Given the description of an element on the screen output the (x, y) to click on. 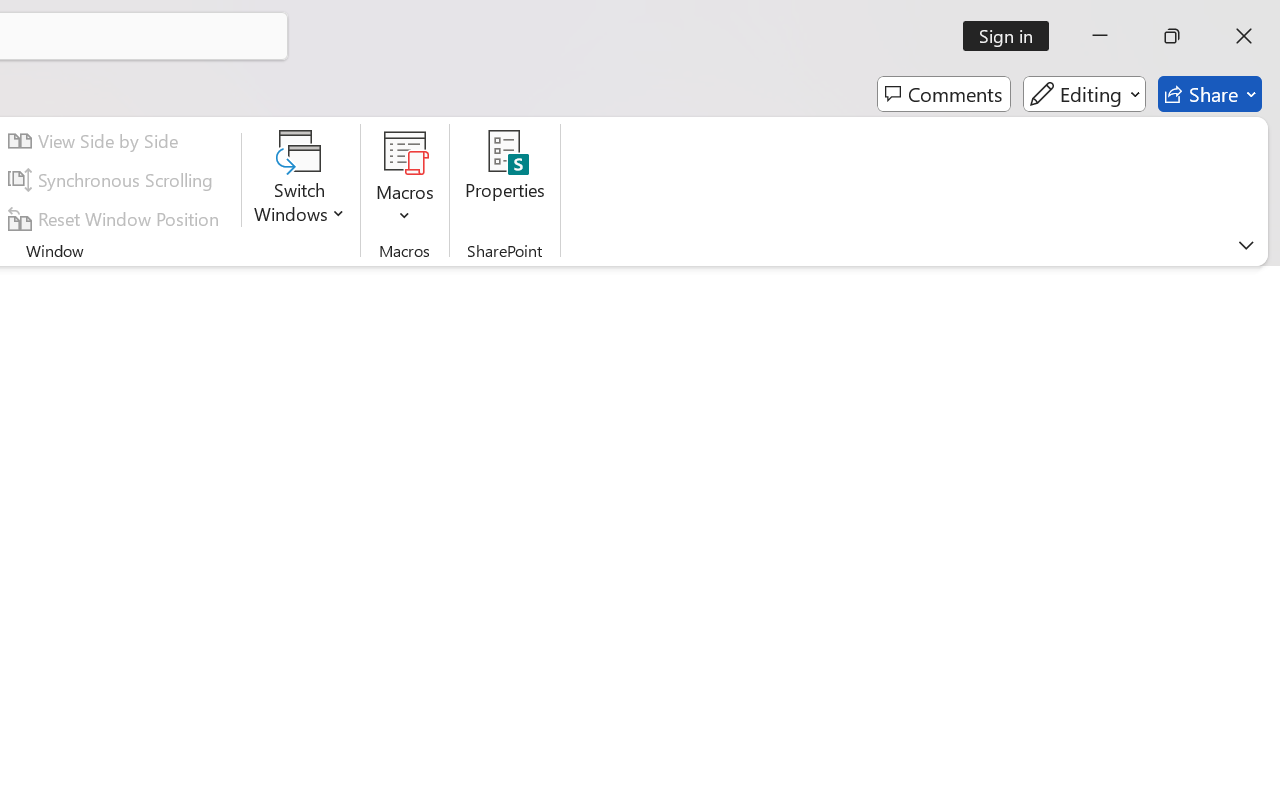
View Side by Side (96, 141)
Macros (404, 179)
Synchronous Scrolling (114, 179)
Properties (505, 179)
Switch Windows (299, 179)
Reset Window Position (116, 218)
View Macros (404, 151)
